Given the description of an element on the screen output the (x, y) to click on. 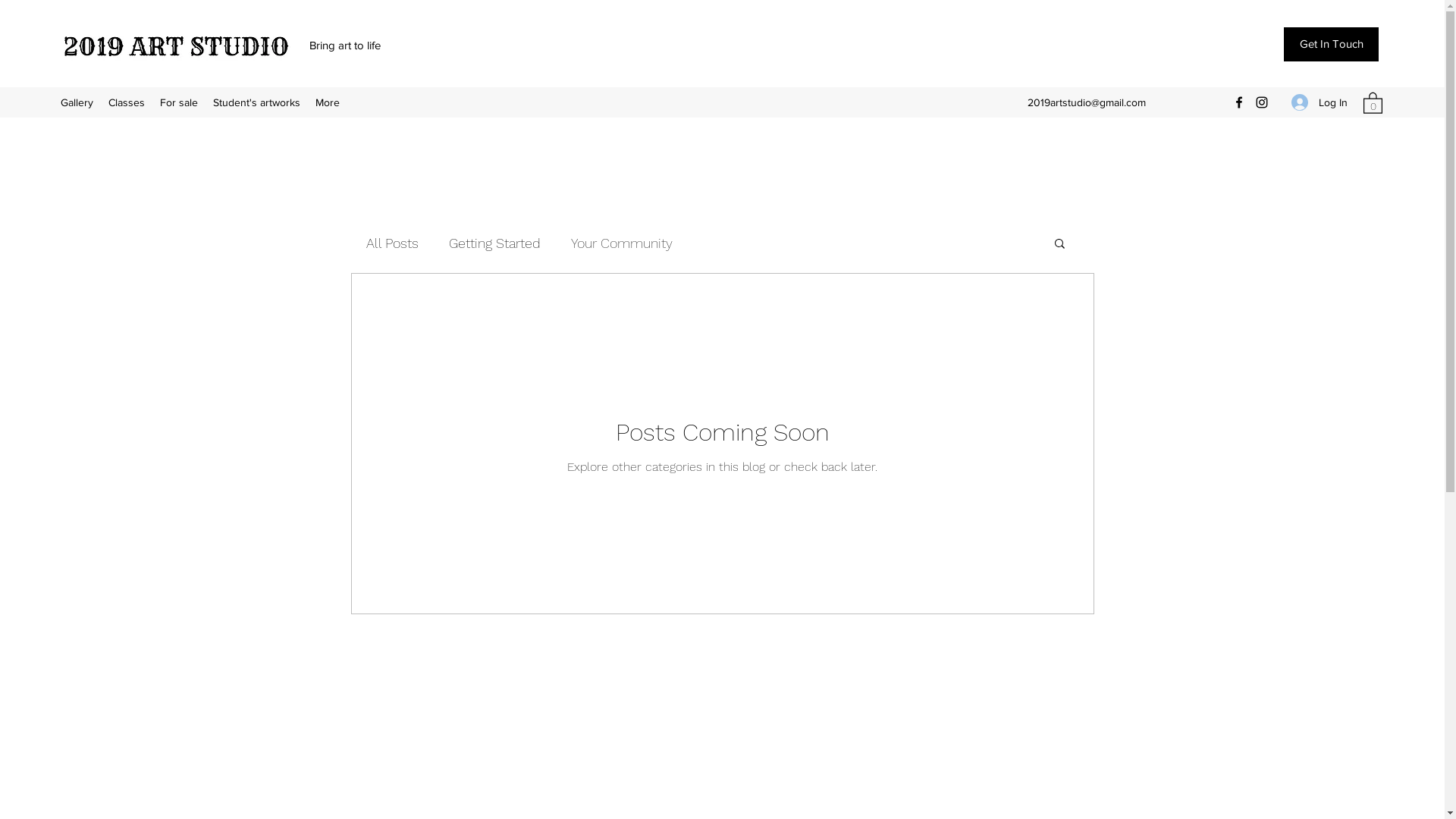
Log In Element type: text (1319, 102)
All Posts Element type: text (391, 243)
Getting Started Element type: text (494, 243)
Get In Touch Element type: text (1330, 44)
2019artstudio@gmail.com Element type: text (1086, 102)
0 Element type: text (1372, 102)
Your Community Element type: text (620, 243)
Classes Element type: text (126, 102)
For sale Element type: text (178, 102)
Student's artworks Element type: text (256, 102)
Gallery Element type: text (76, 102)
